Given the description of an element on the screen output the (x, y) to click on. 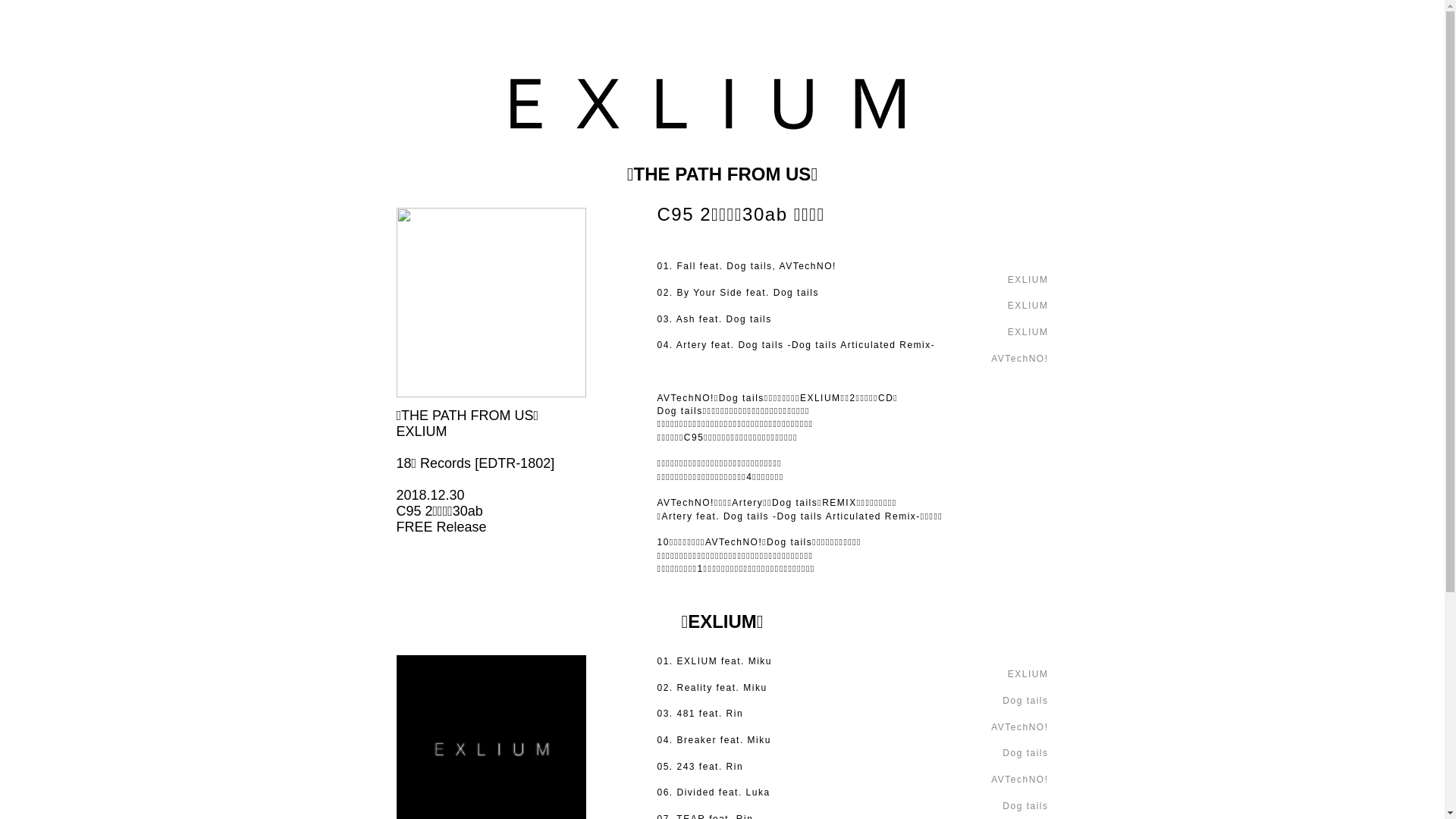
03. Ash feat. Dog tails Element type: text (713, 318)
04. Breaker feat. Miku Element type: text (713, 739)
01. EXLIUM feat. Miku Element type: text (713, 660)
05. 243 feat. Rin Element type: text (699, 766)
01. Fall feat. Dog tails, AVTechNO! Element type: text (745, 265)
03. 481 feat. Rin Element type: text (699, 713)
06. Divided feat. Luka Element type: text (712, 792)
02. Reality feat. Miku Element type: text (711, 687)
02. By Your Side feat. Dog tails Element type: text (737, 292)
04. Artery feat. Dog tails -Dog tails Articulated Remix- Element type: text (795, 344)
